Given the description of an element on the screen output the (x, y) to click on. 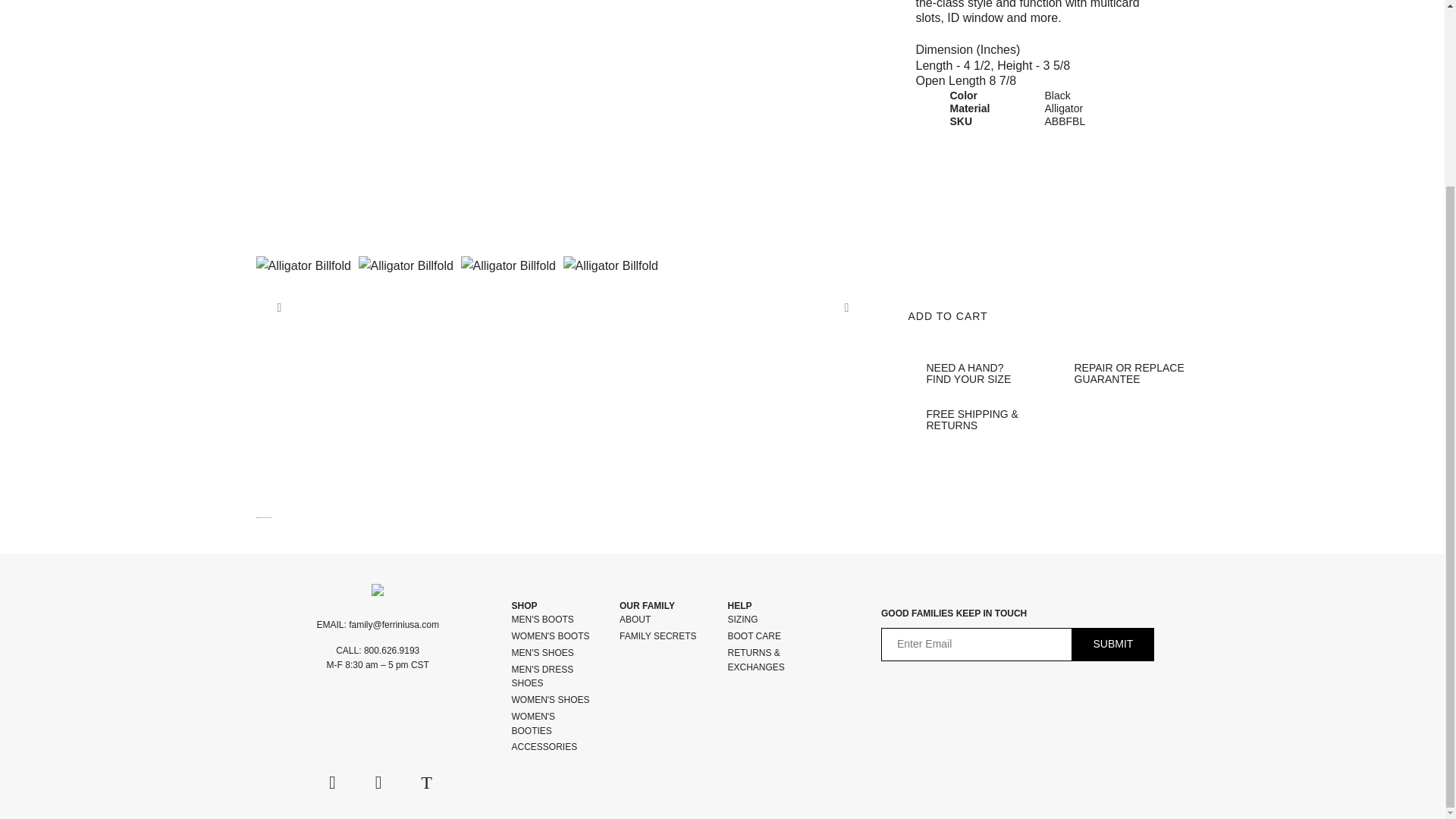
Ferrini USA Inc. on Facebook (332, 782)
Ferrini USA Inc. on Twitter (426, 782)
Ferrini USA Inc. on Instagram (378, 782)
Submit (1112, 644)
